Given the description of an element on the screen output the (x, y) to click on. 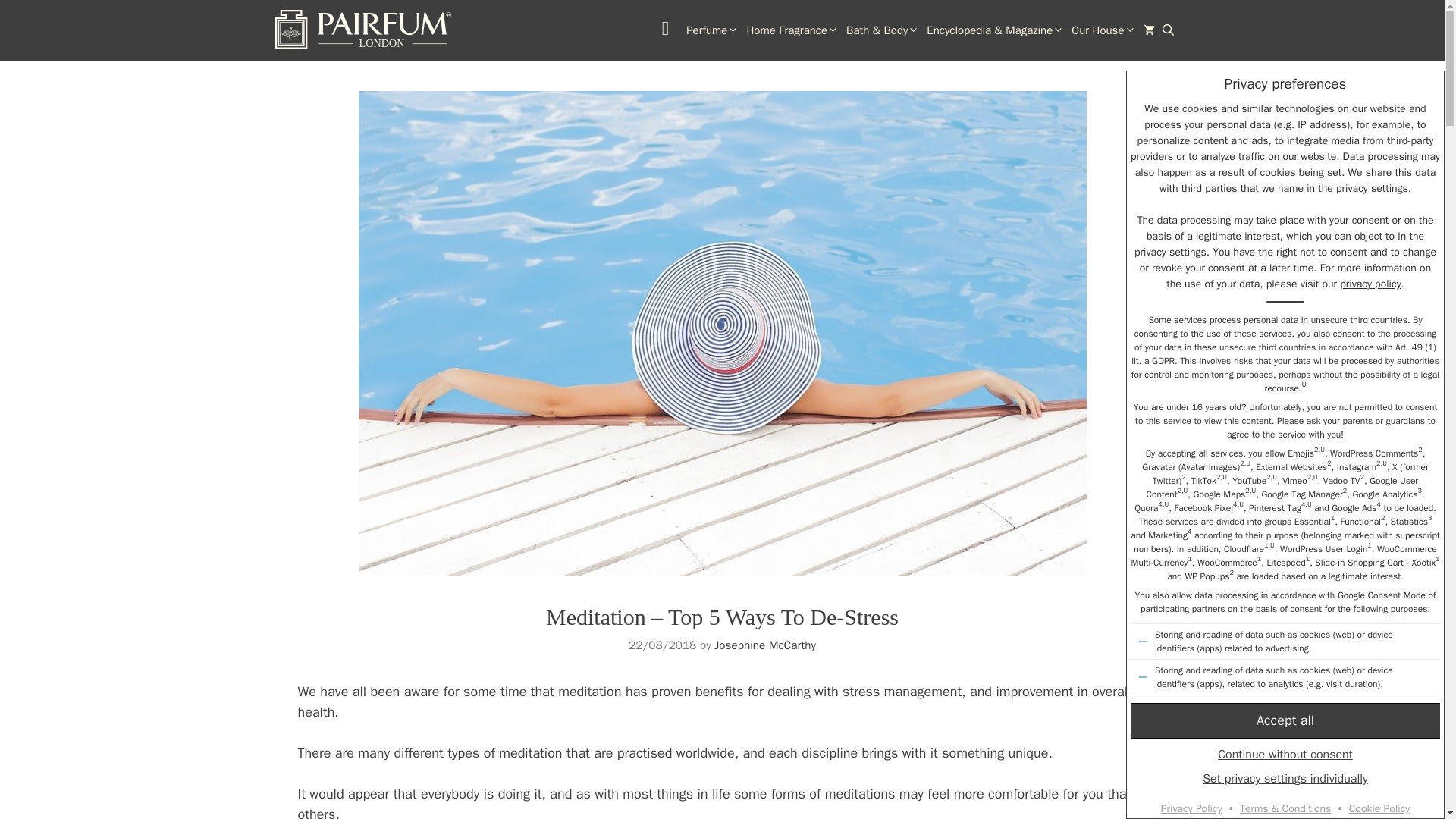
Cookie Policy (1379, 808)
Accept all (1285, 720)
Set privacy settings individually (1285, 778)
Privacy Policy (1191, 808)
Perfume (712, 30)
privacy policy (1369, 283)
View all posts by Josephine McCarthy (764, 645)
Home Fragrance (792, 30)
Continue without consent (1285, 754)
